Given the description of an element on the screen output the (x, y) to click on. 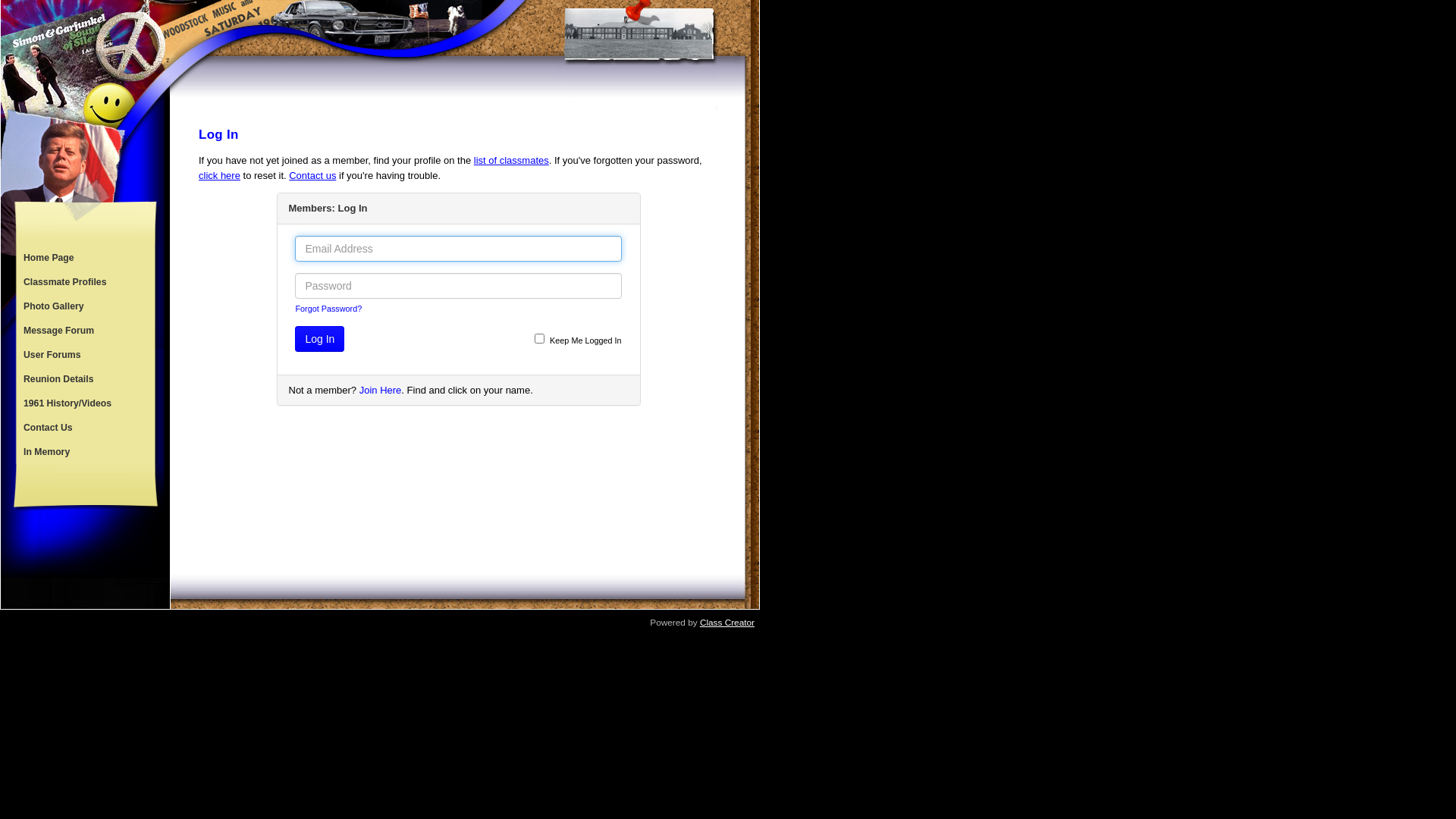
Join Here Element type: text (380, 389)
In Memory Element type: text (83, 451)
Contact us Element type: text (311, 175)
click here Element type: text (219, 175)
Home Page Element type: text (83, 257)
Message Forum Element type: text (83, 330)
User Forums Element type: text (83, 354)
Forgot Password? Element type: text (327, 308)
Photo Gallery Element type: text (83, 306)
Class Creator Element type: text (726, 622)
list of classmates Element type: text (511, 160)
Contact Us Element type: text (83, 427)
Reunion Details Element type: text (83, 379)
Log In Element type: text (319, 338)
Classmate Profiles Element type: text (83, 281)
1961 History/Videos Element type: text (83, 403)
